Given the description of an element on the screen output the (x, y) to click on. 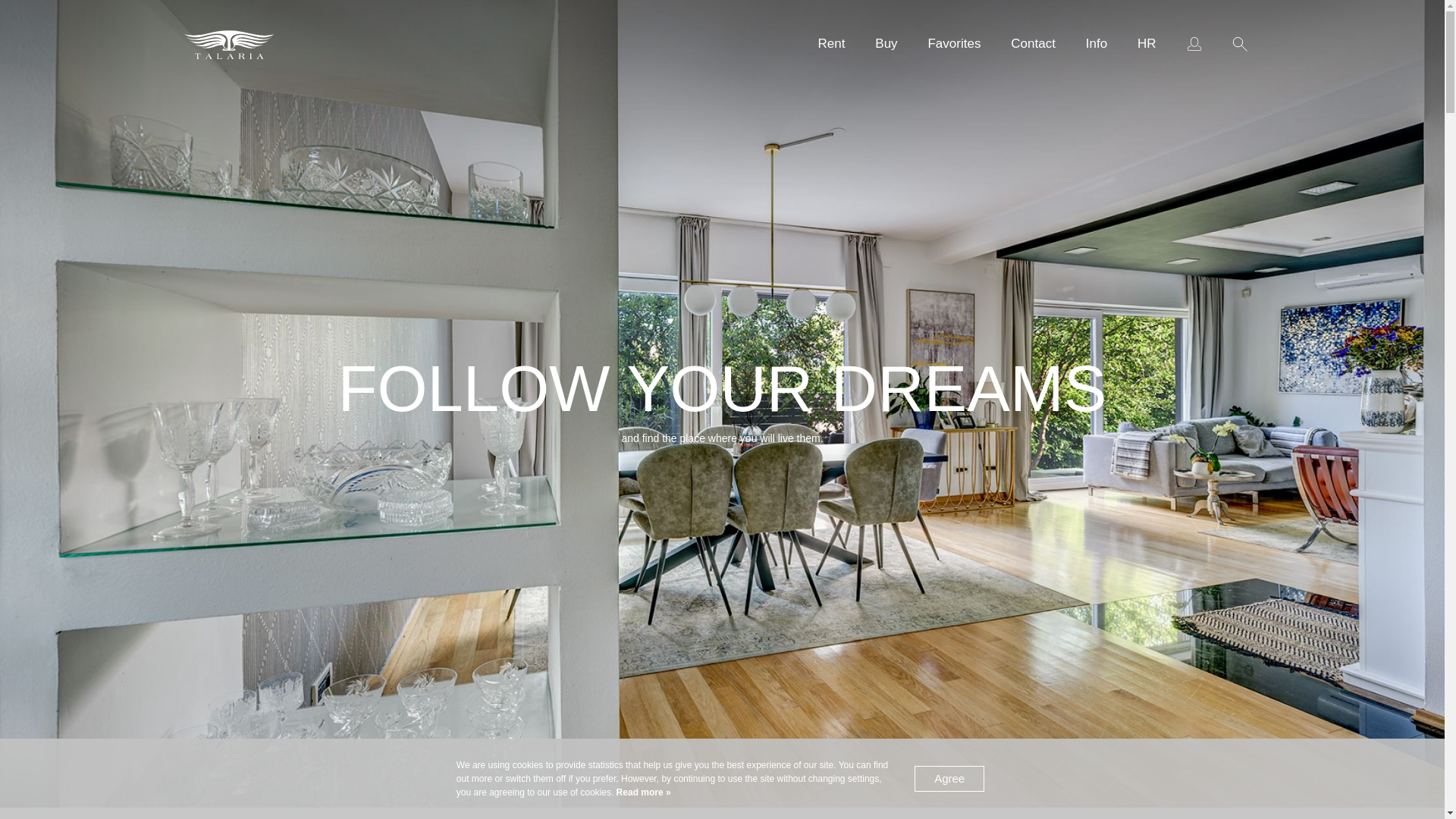
Favorites (953, 43)
Contact (1032, 43)
HR (1147, 43)
Info (1096, 43)
Rent (831, 43)
Buy (886, 43)
